Given the description of an element on the screen output the (x, y) to click on. 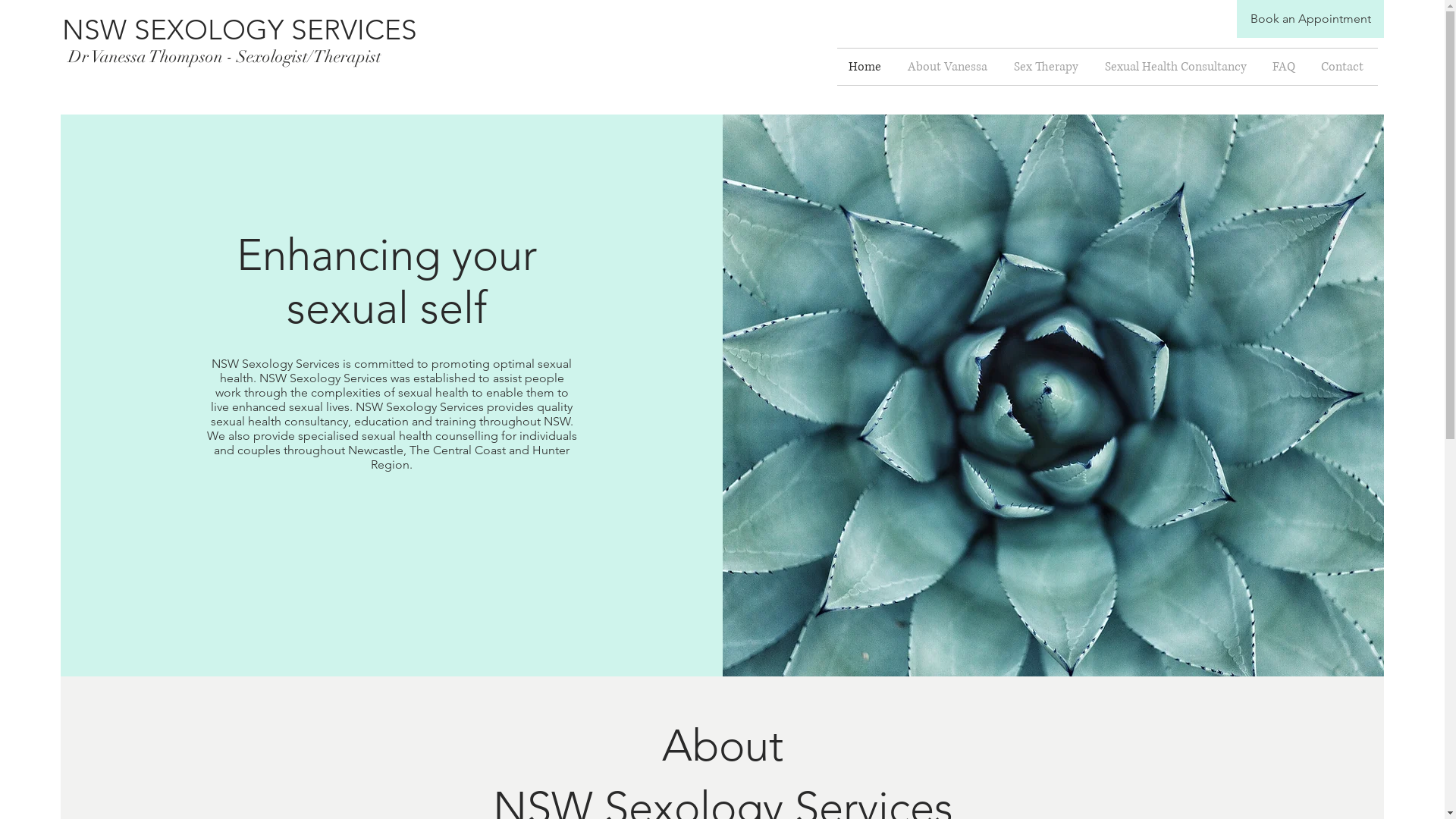
Book an Appointment Element type: text (1309, 18)
About Vanessa Element type: text (949, 66)
Contact Element type: text (1343, 66)
Home Element type: text (866, 66)
Sexual Health Consultancy Element type: text (1177, 66)
FAQ Element type: text (1285, 66)
Sex Therapy Element type: text (1047, 66)
Dr Vanessa Thompson - Sexologist/Therapist Element type: text (220, 56)
